Given the description of an element on the screen output the (x, y) to click on. 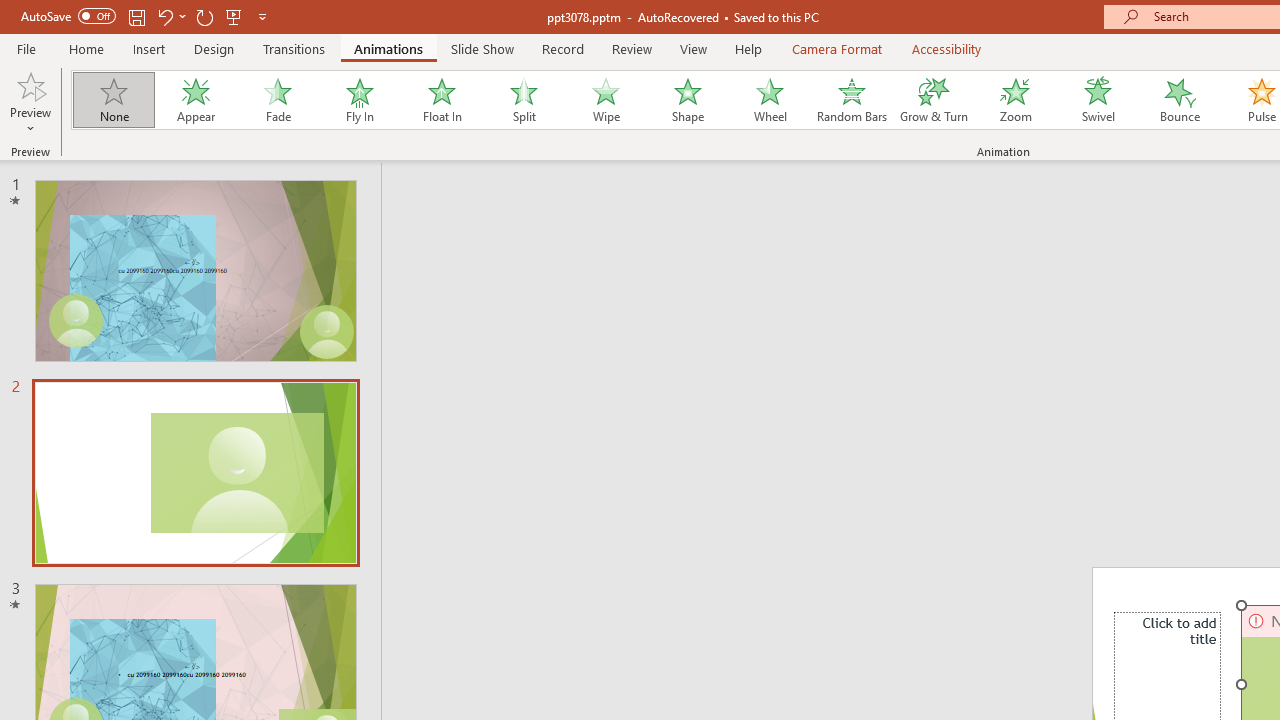
Split (523, 100)
Random Bars (852, 100)
Grow & Turn (934, 100)
